Given the description of an element on the screen output the (x, y) to click on. 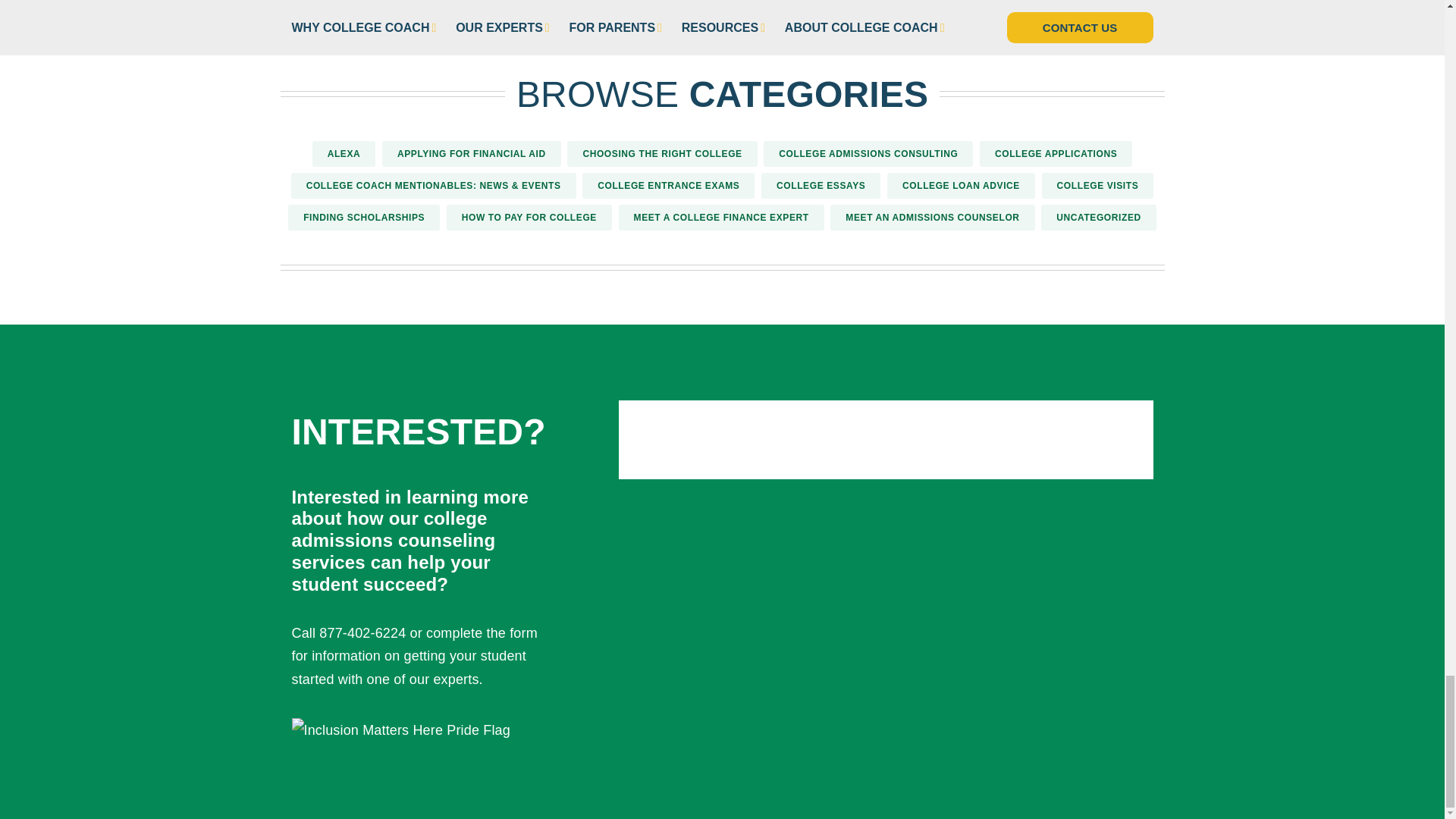
Insert Sitecore Link (407, 632)
